Given the description of an element on the screen output the (x, y) to click on. 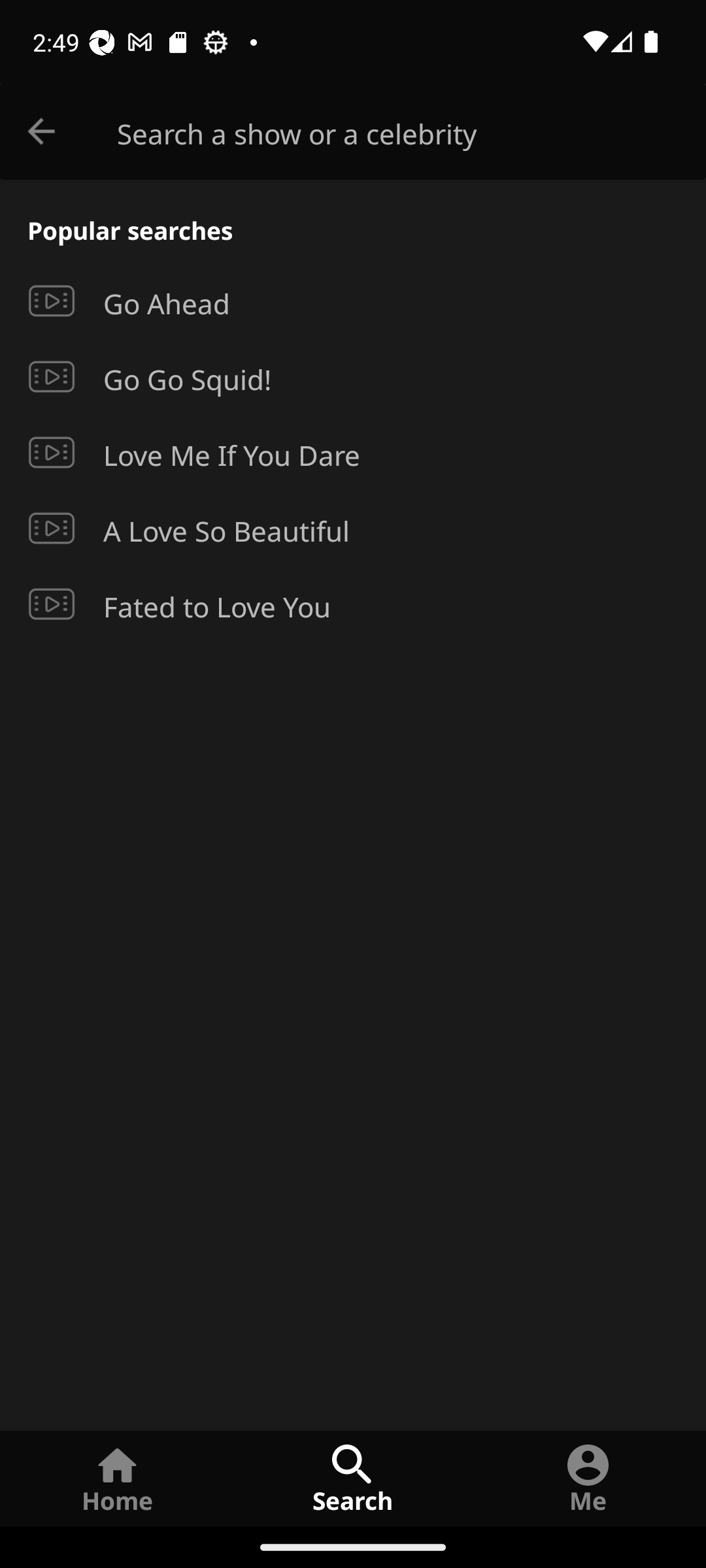
Search a show or a celebrity (411, 131)
Go Ahead (353, 300)
Go Go Squid! (353, 376)
Love Me If You Dare (353, 452)
A Love So Beautiful (353, 528)
Fated to Love You (353, 604)
Home (117, 1478)
Me (588, 1478)
